Given the description of an element on the screen output the (x, y) to click on. 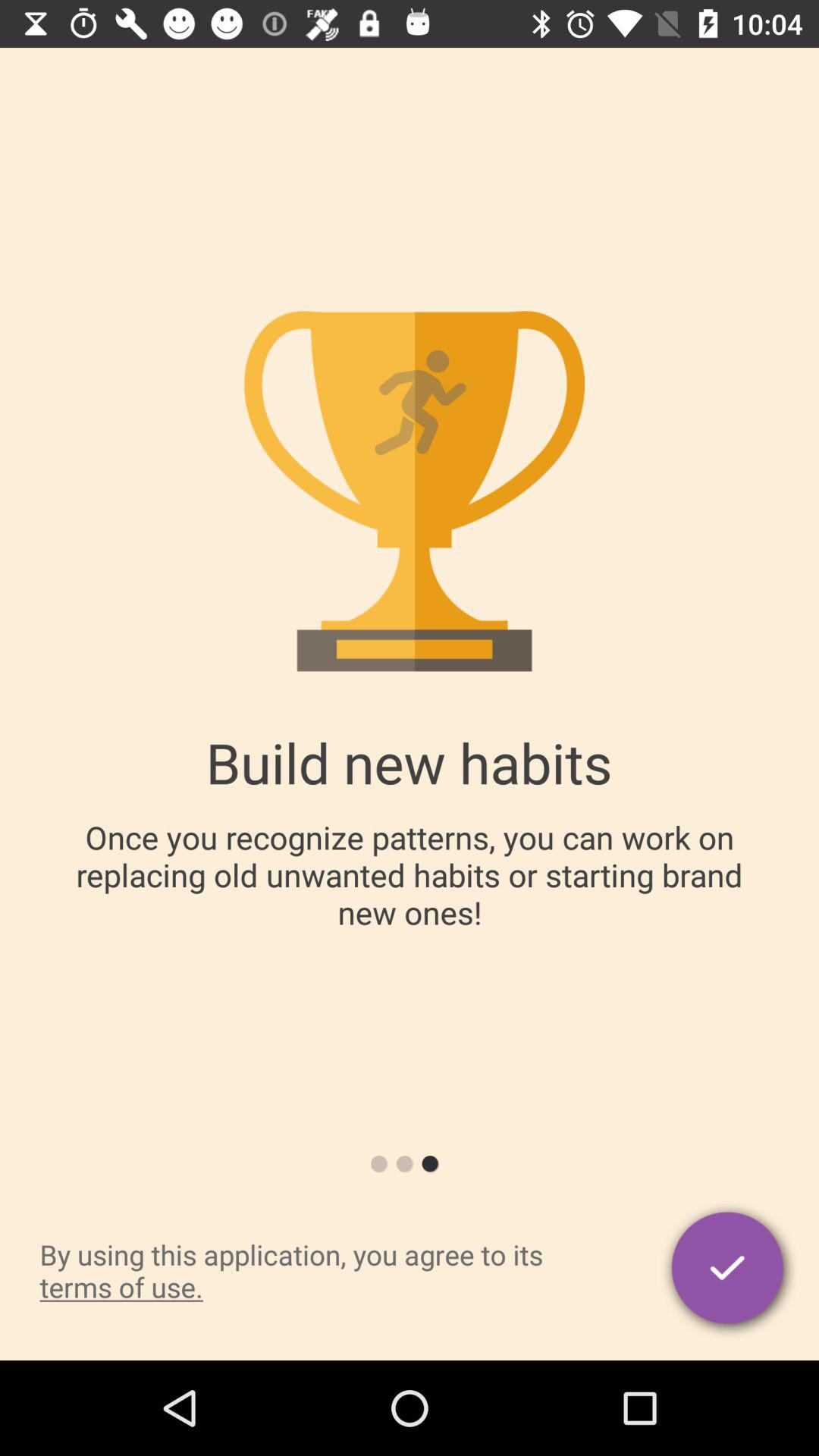
ok (729, 1270)
